Given the description of an element on the screen output the (x, y) to click on. 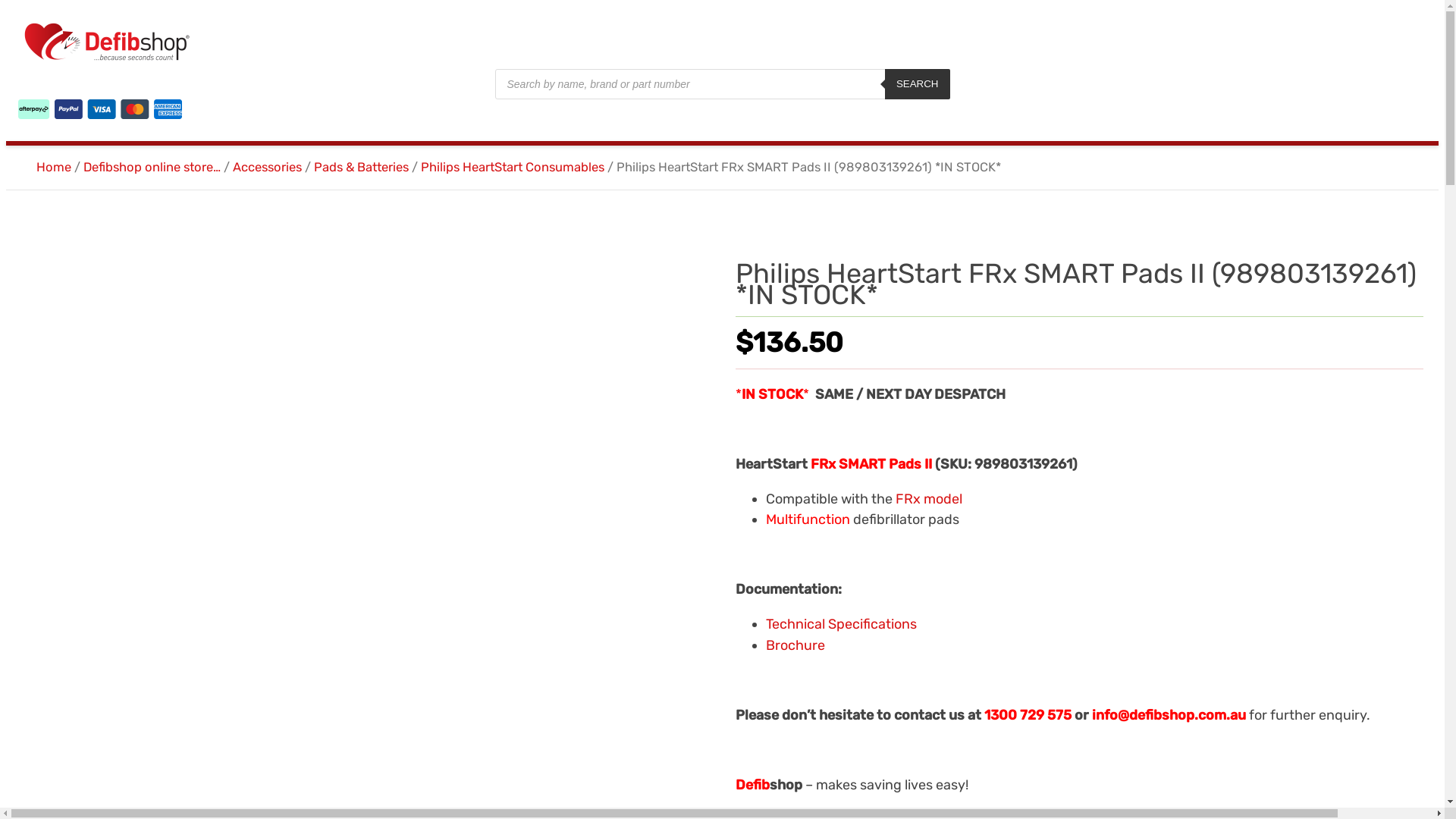
Brochure Element type: text (795, 645)
SEARCH Element type: text (917, 84)
Technical Specifications Element type: text (840, 623)
Pads & Batteries Element type: text (360, 167)
Philips HeartStart Consumables Element type: text (512, 167)
FRx model Element type: text (928, 498)
Home Element type: text (53, 167)
Accessories Element type: text (266, 167)
